Given the description of an element on the screen output the (x, y) to click on. 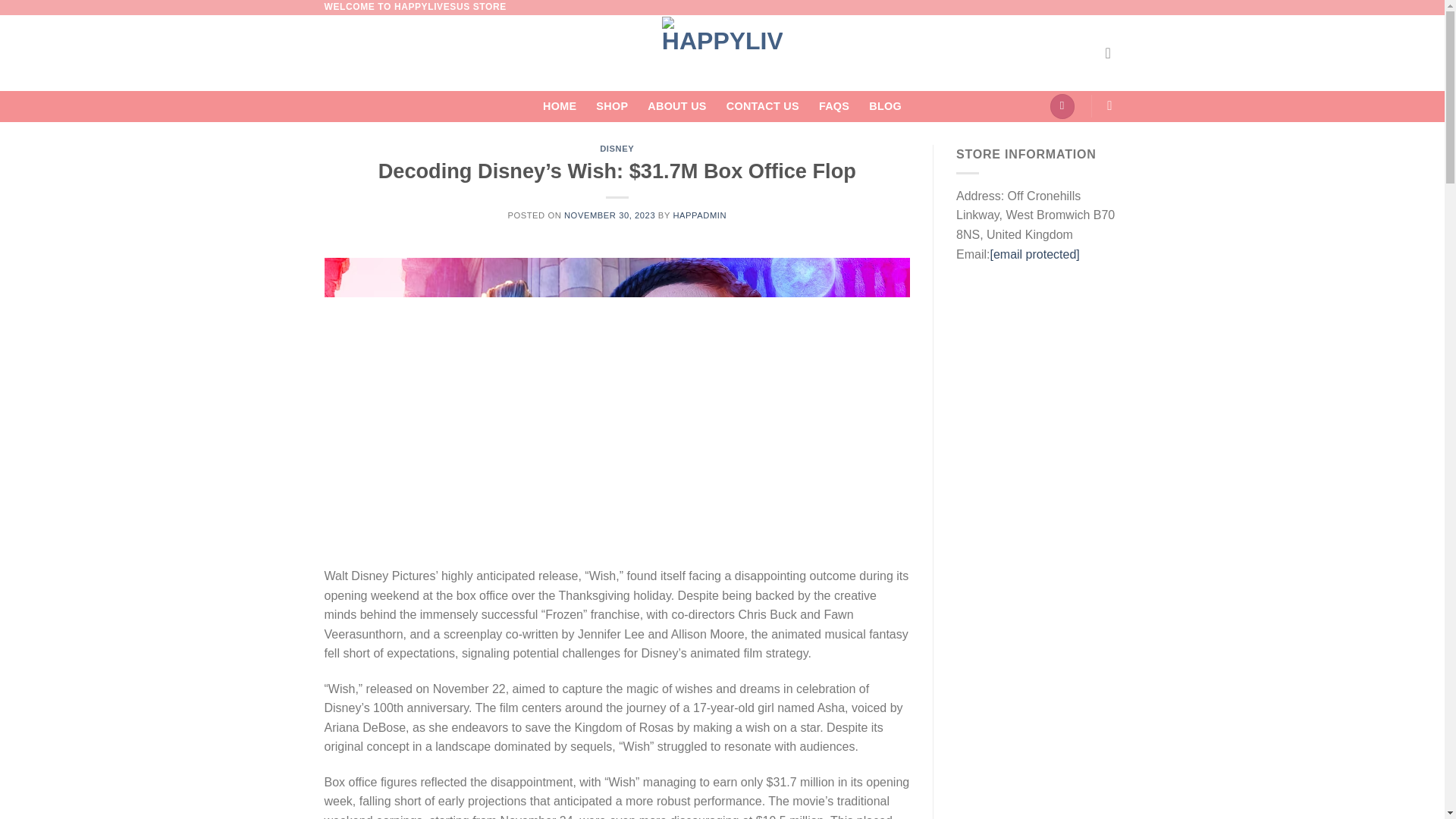
FAQS (833, 105)
NOVEMBER 30, 2023 (609, 215)
Happylivesus.com (722, 52)
SHOP (611, 105)
HAPPADMIN (699, 215)
CONTACT US (762, 105)
DISNEY (616, 148)
BLOG (885, 105)
Cart (1061, 106)
HOME (559, 105)
